Given the description of an element on the screen output the (x, y) to click on. 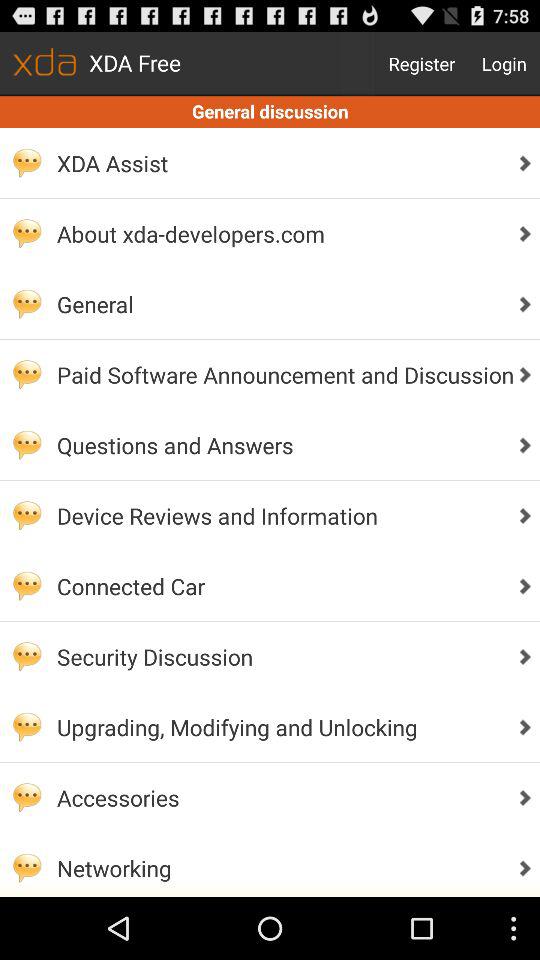
swipe until connected car (280, 586)
